Given the description of an element on the screen output the (x, y) to click on. 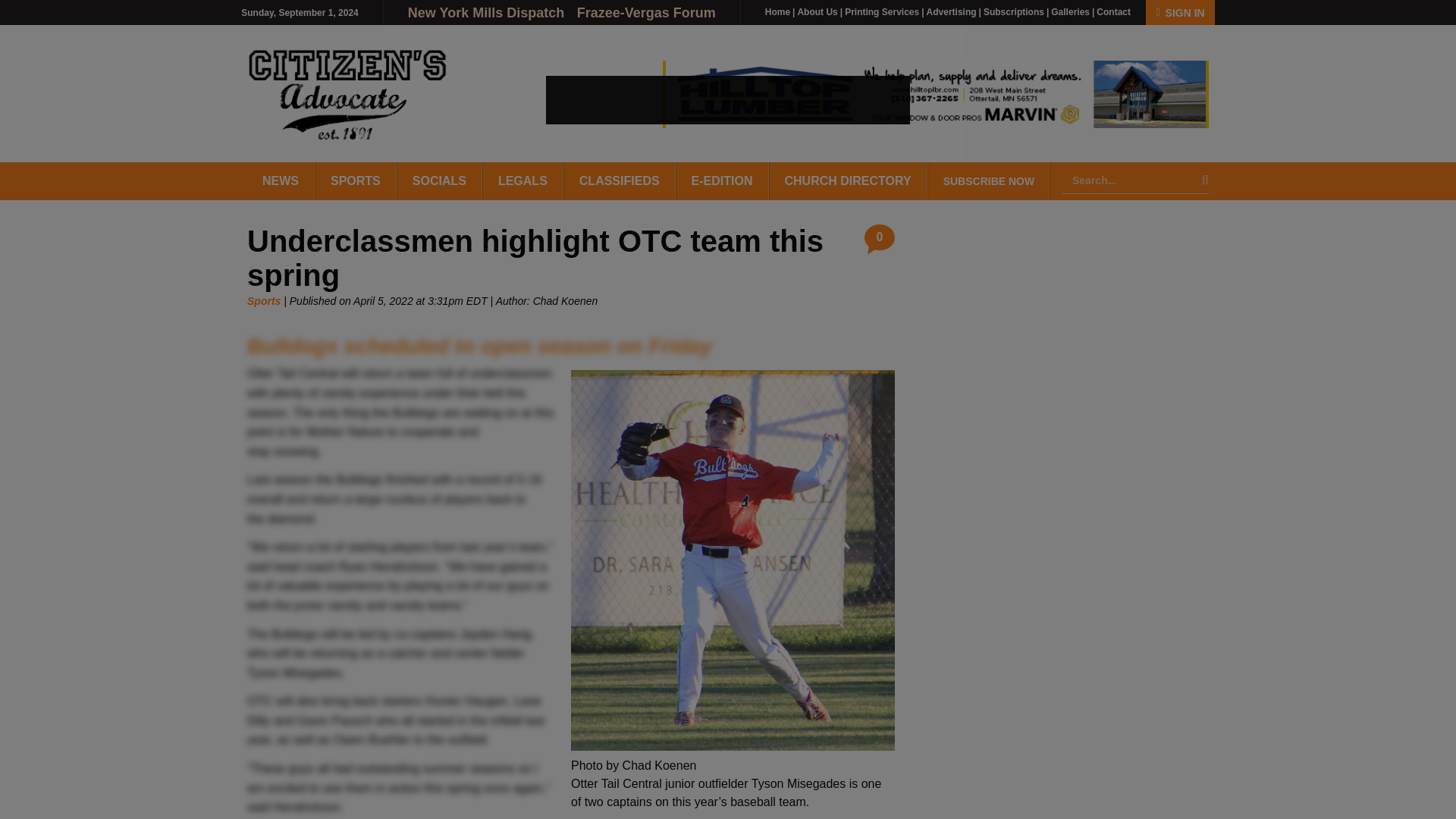
About Us (816, 11)
SIGN IN (1179, 12)
SPORTS (355, 180)
NEWS (280, 180)
Subscriptions (1013, 11)
Frazee-Vergas Forum (646, 11)
Contact (1113, 11)
Printing Services (881, 11)
New York Mills Dispatch (487, 11)
Advertising (951, 11)
